Given the description of an element on the screen output the (x, y) to click on. 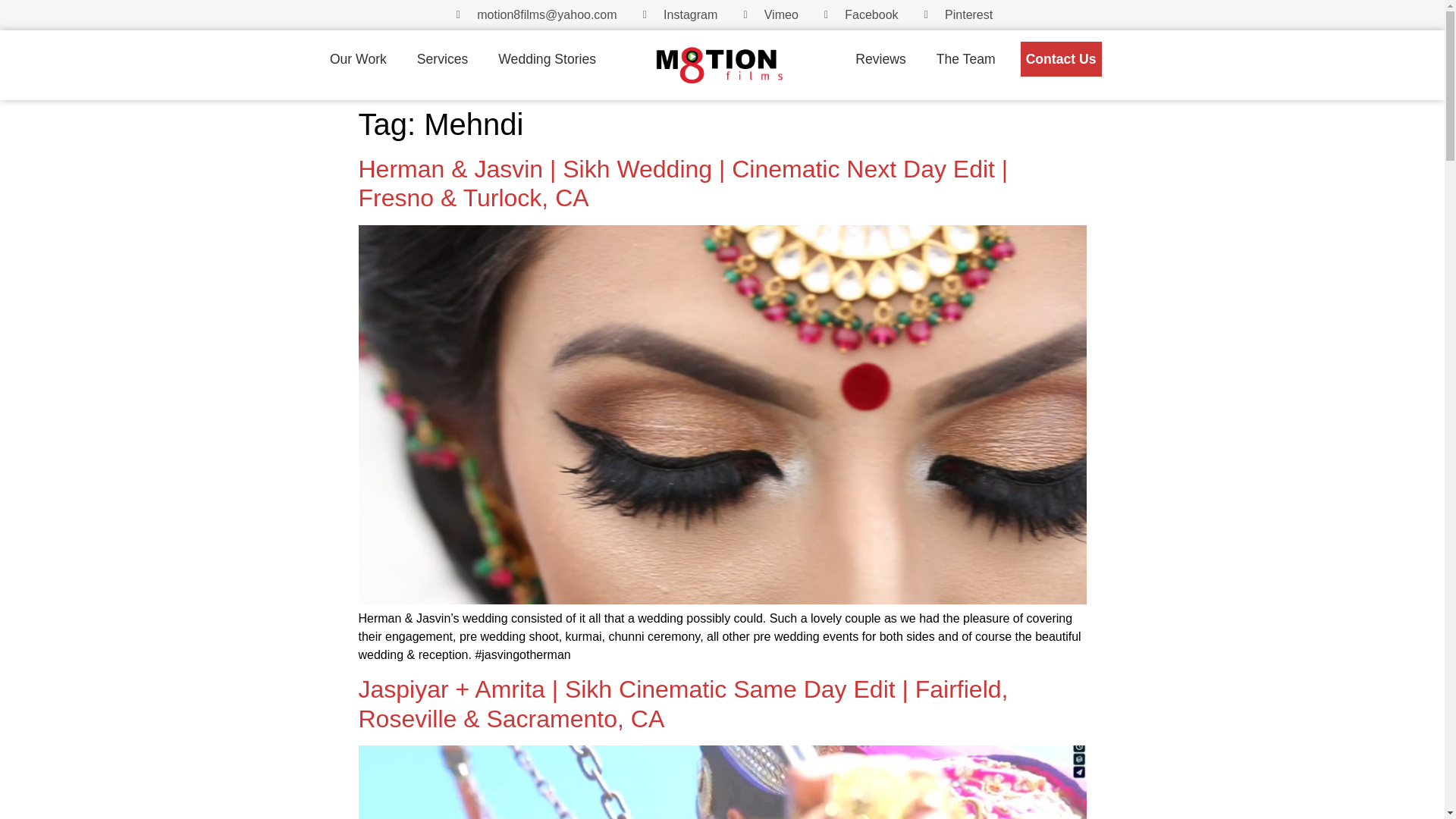
Instagram (678, 14)
Contact Us (1061, 58)
Reviews (880, 58)
Services (442, 58)
Vimeo (767, 14)
Pinterest (956, 14)
Facebook (858, 14)
Our Work (357, 58)
The Team (966, 58)
Wedding Stories (547, 58)
